Given the description of an element on the screen output the (x, y) to click on. 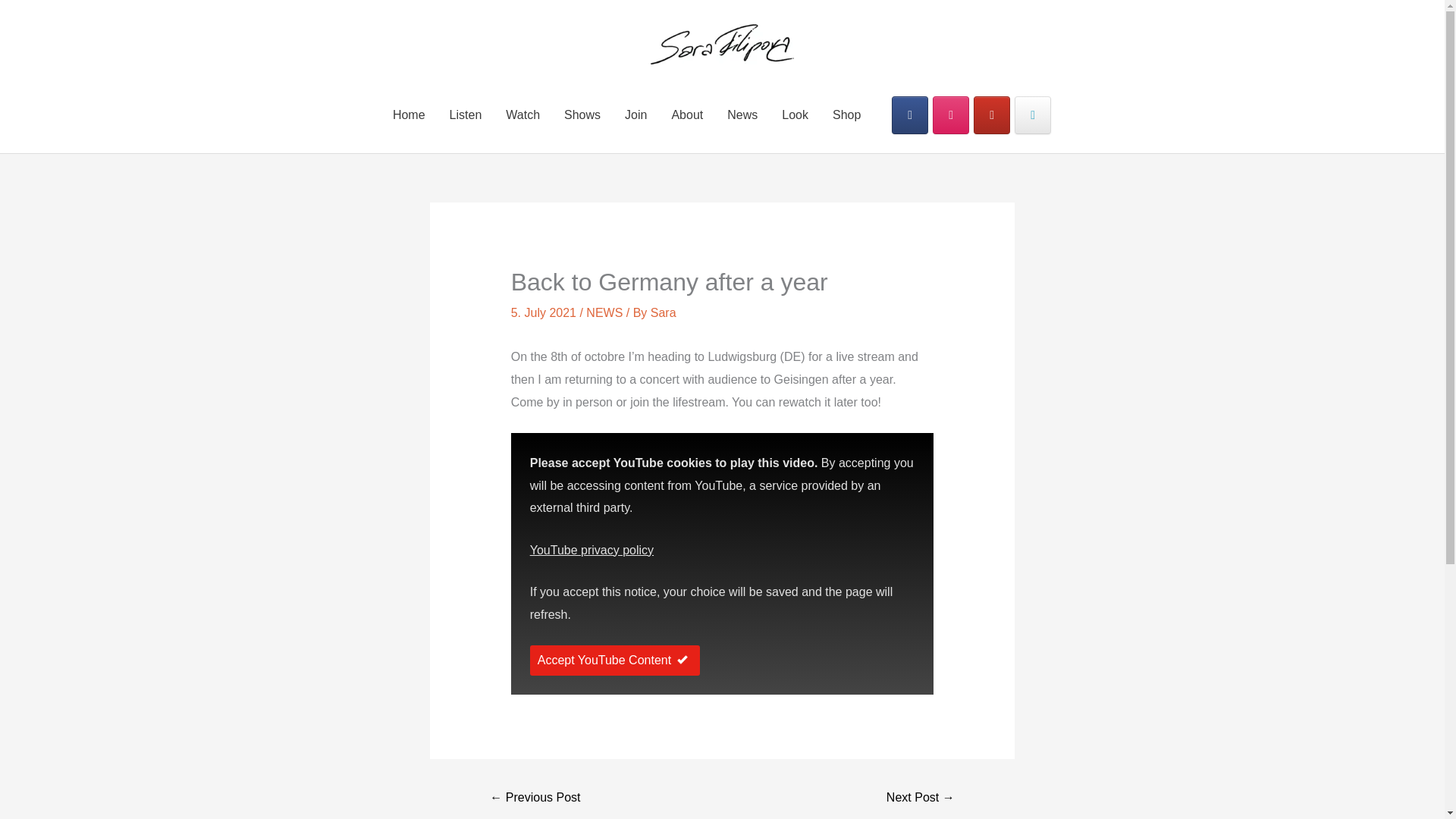
Home (409, 114)
Look (795, 114)
News (742, 114)
Accept YouTube Content (614, 660)
About (686, 114)
Sara (663, 312)
Sara Filipova on Instagram (951, 115)
Listen (466, 114)
NEWS (604, 312)
Shows (581, 114)
Watch (522, 114)
Sara Filipova on Facebook (909, 115)
Shop (846, 114)
YouTube privacy policy (591, 549)
View all posts by Sara (663, 312)
